Given the description of an element on the screen output the (x, y) to click on. 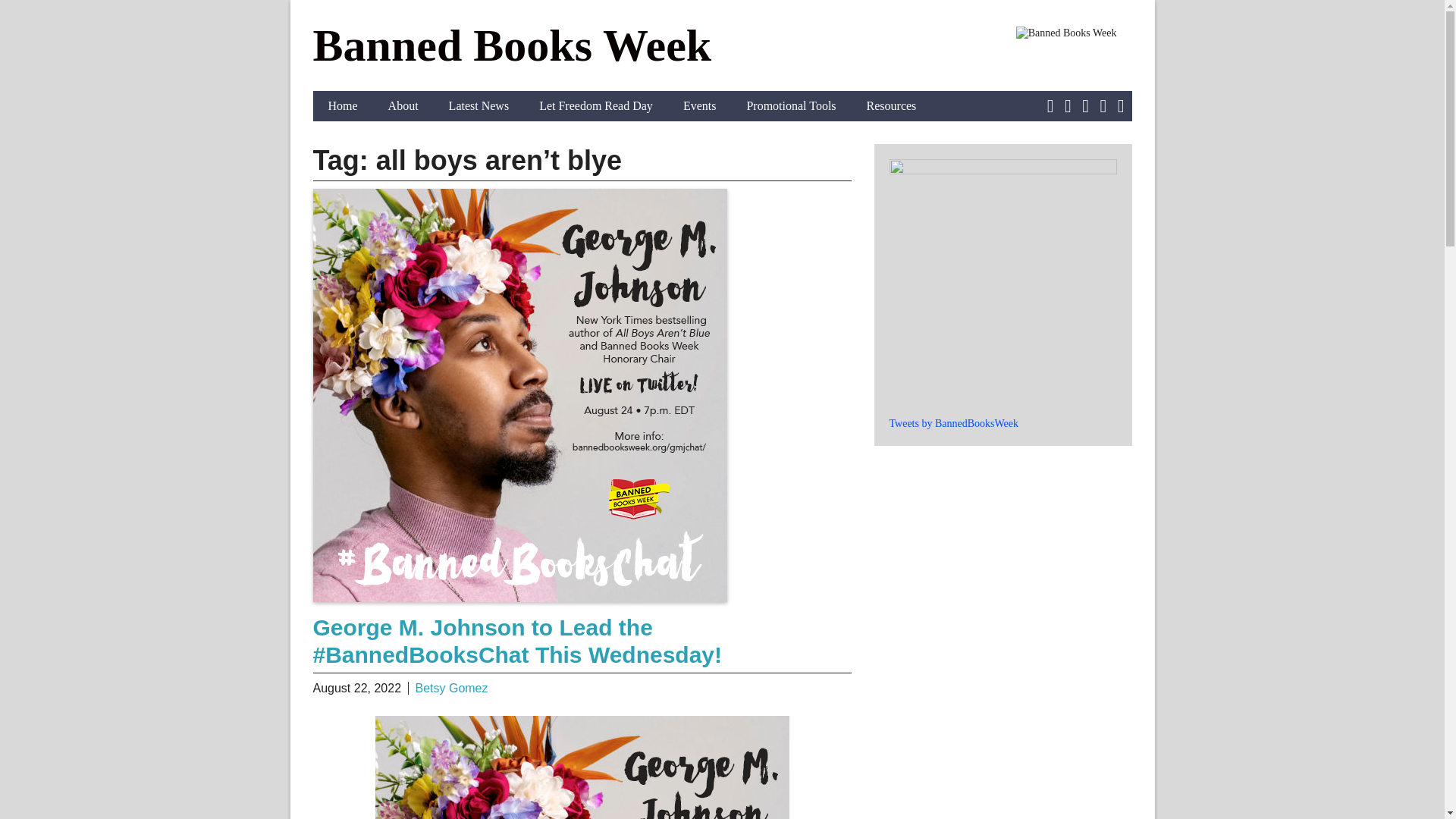
Latest News (478, 105)
Promotional Tools (790, 105)
Posts by Betsy Gomez (450, 687)
Banned Books Week (512, 45)
Home (342, 105)
Resources (891, 105)
Betsy Gomez (450, 687)
Tweets by BannedBooksWeek (952, 423)
Let Freedom Read Day (596, 105)
Events (700, 105)
About (402, 105)
